Given the description of an element on the screen output the (x, y) to click on. 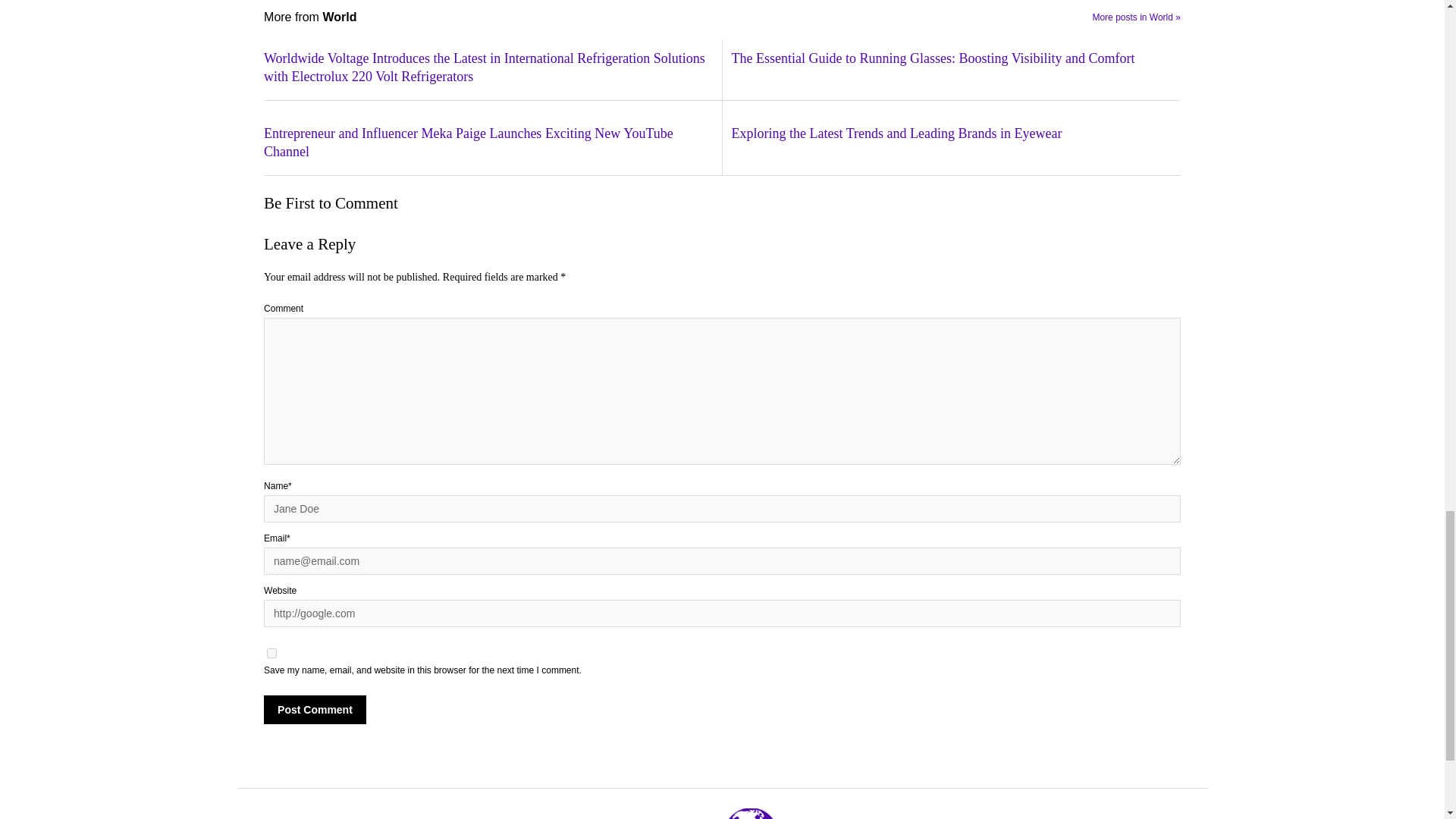
yes (271, 653)
Exploring the Latest Trends and Leading Brands in Eyewear (954, 134)
Post Comment (314, 709)
Post Comment (314, 709)
